Given the description of an element on the screen output the (x, y) to click on. 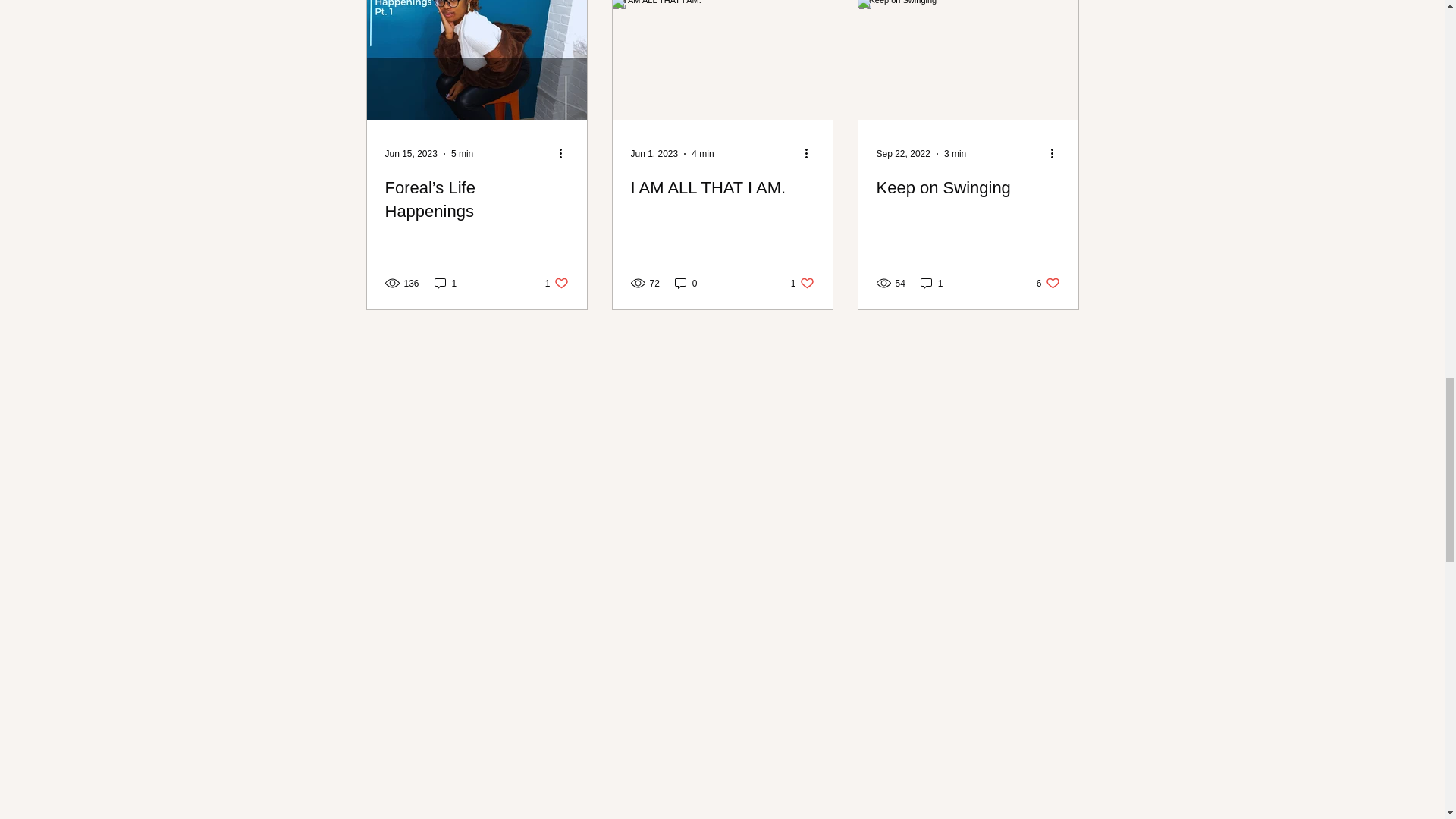
5 min (462, 153)
3 min (954, 153)
Jun 15, 2023 (411, 153)
Sep 22, 2022 (903, 153)
4 min (702, 153)
Jun 1, 2023 (654, 153)
